Given the description of an element on the screen output the (x, y) to click on. 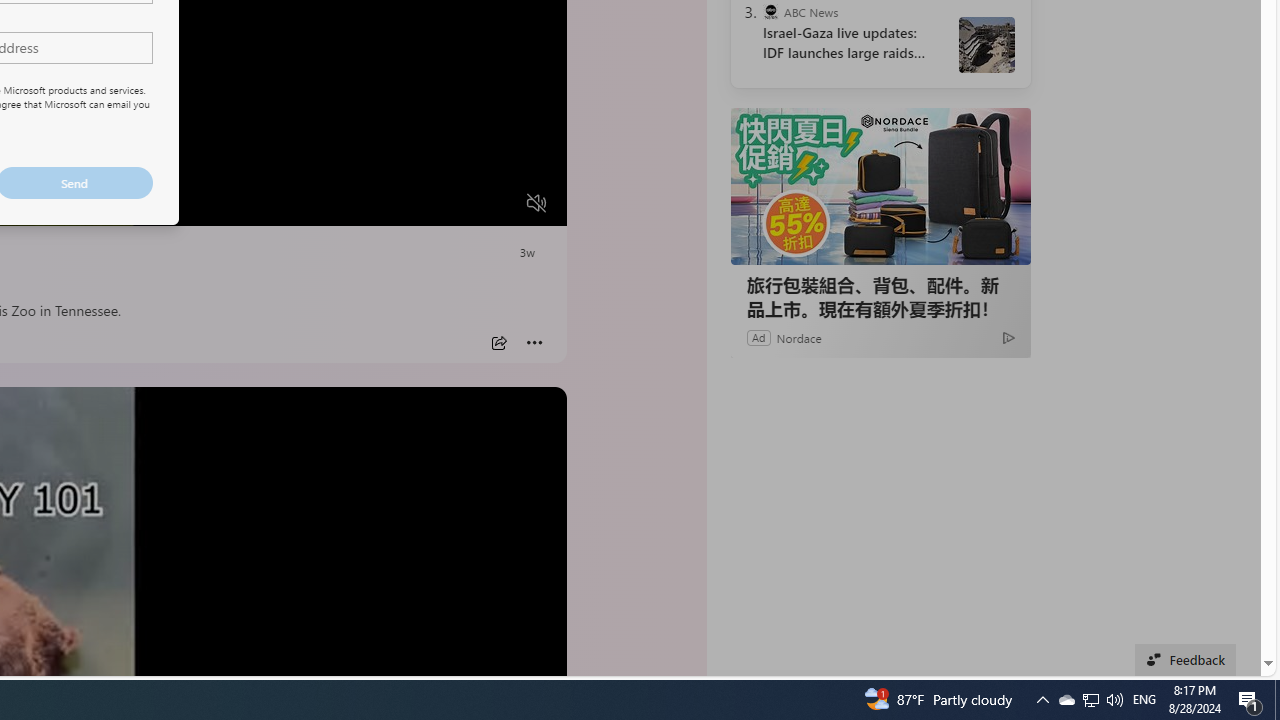
Share (498, 343)
Unmute (535, 203)
Fullscreen (497, 203)
Captions (457, 203)
Quality Settings (418, 203)
